Given the description of an element on the screen output the (x, y) to click on. 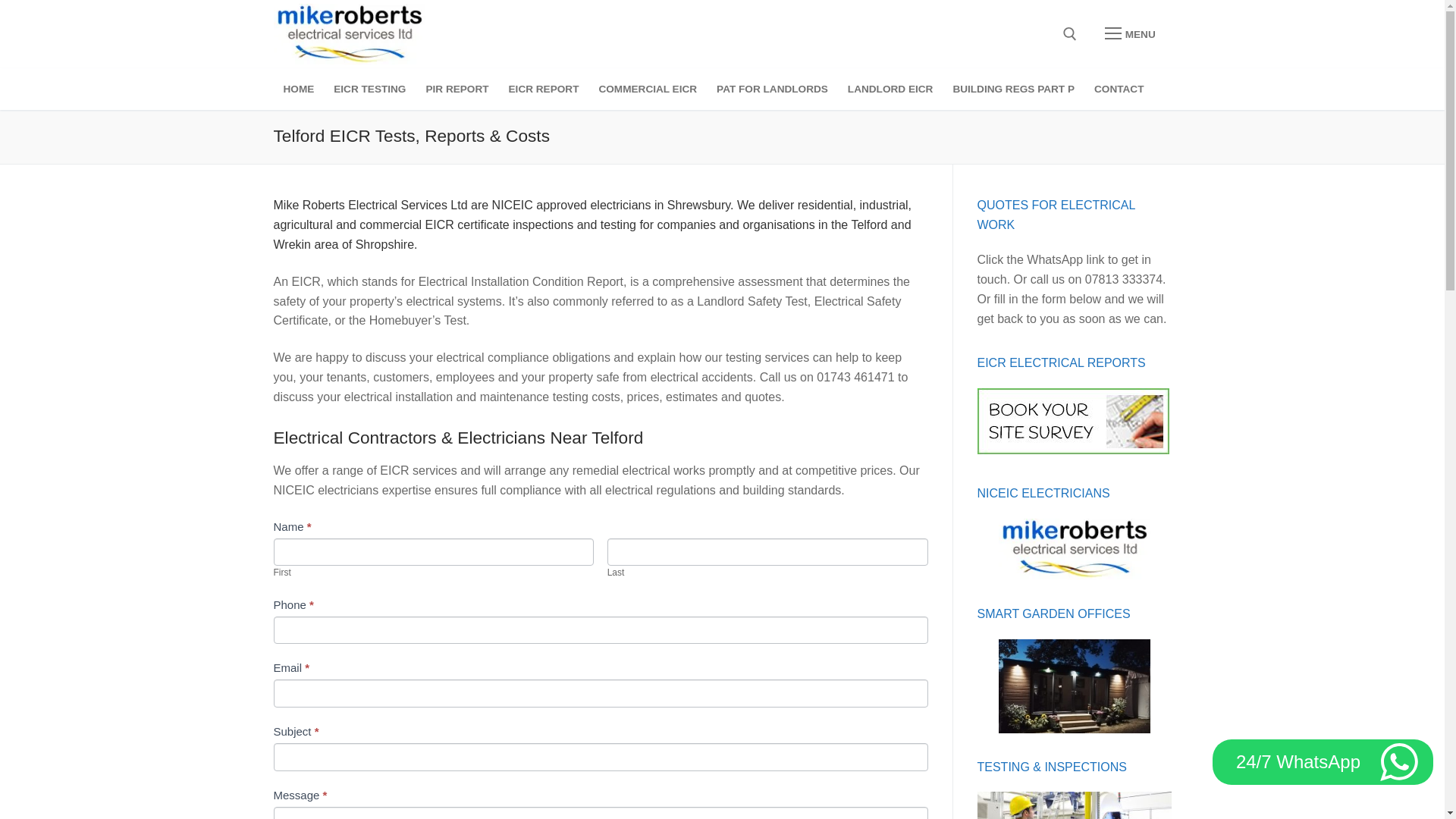
EICR REPORT (544, 89)
PAT FOR LANDLORDS (772, 89)
MENU (1129, 33)
BUILDING REGS PART P (1013, 89)
HOME (298, 89)
EICR TESTING (368, 89)
LANDLORD EICR (890, 89)
COMMERCIAL EICR (647, 89)
CONTACT (1118, 89)
